Given the description of an element on the screen output the (x, y) to click on. 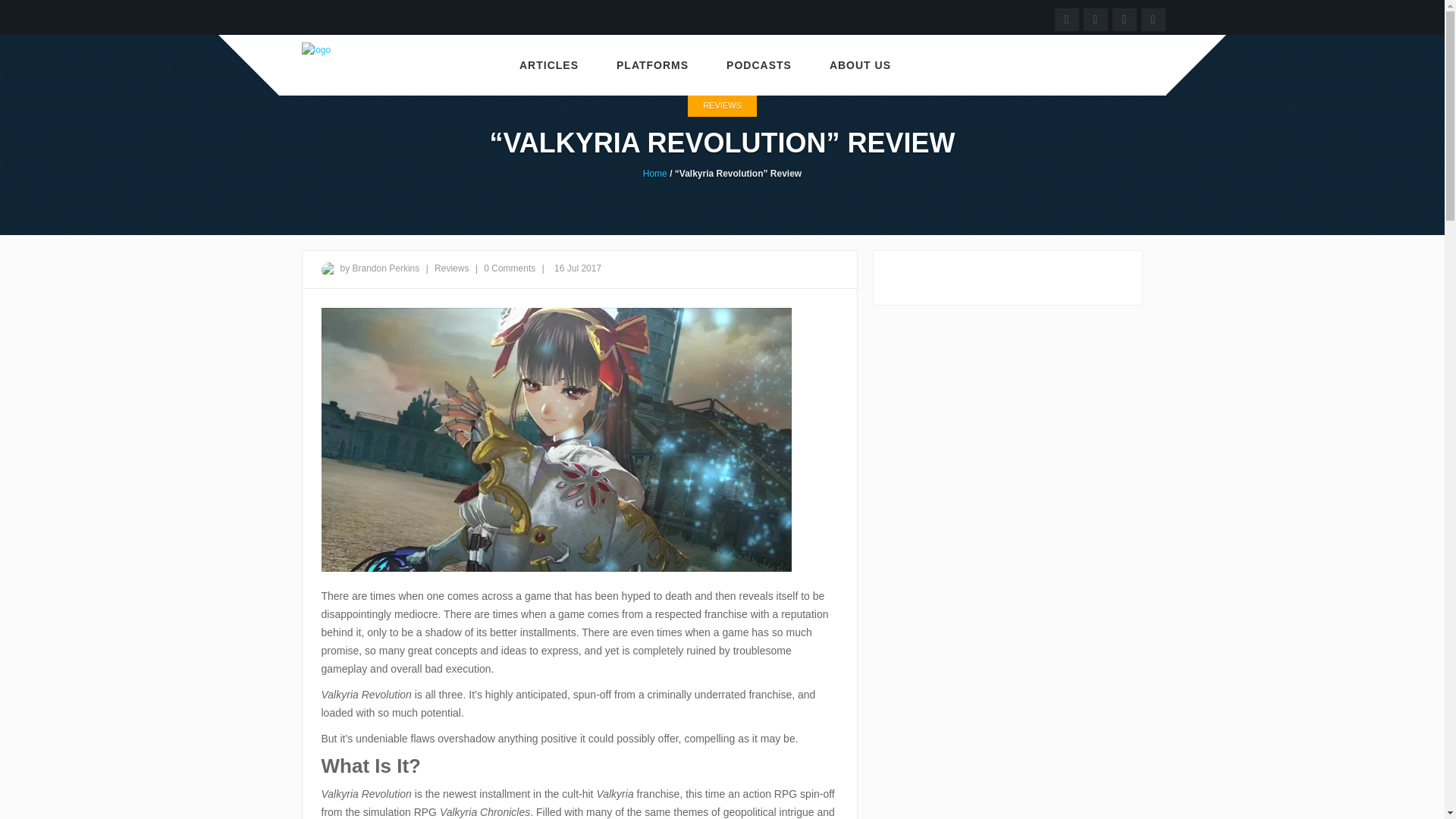
PLATFORMS (651, 65)
Twitter (1124, 18)
REVIEWS (722, 106)
ABOUT US (860, 65)
by Brandon Perkins (379, 267)
ARTICLES (548, 65)
Reviews (452, 267)
0 Comments (509, 267)
YouTube (1067, 18)
Twitch (1095, 18)
